Given the description of an element on the screen output the (x, y) to click on. 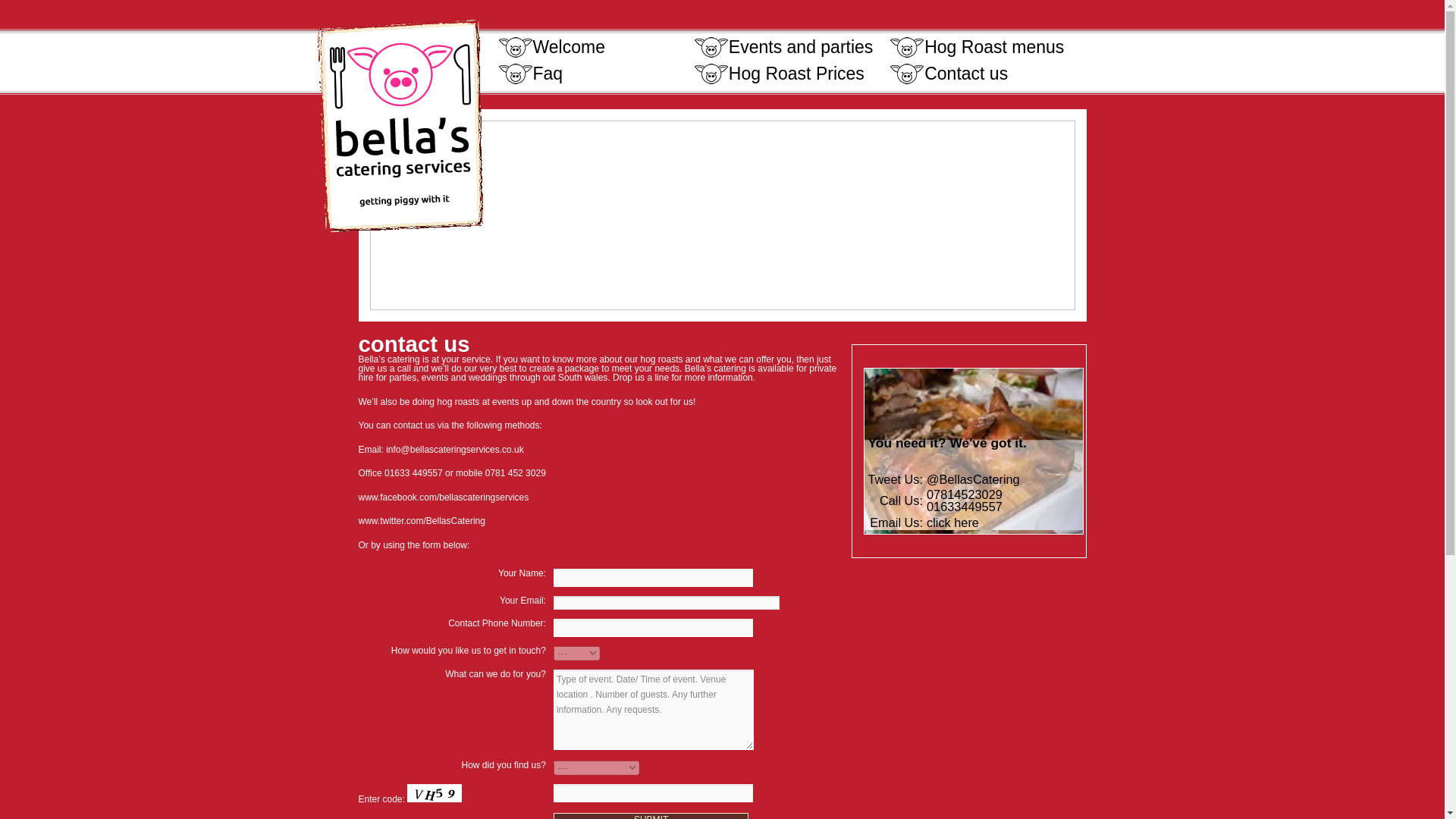
Hog Roast menus (986, 47)
Welcome (596, 47)
SUBMIT (650, 816)
Contact us (986, 73)
Events and parties (791, 47)
SUBMIT (650, 816)
Hog Roast Prices (791, 73)
Click to chat via Twitter (973, 479)
click here (952, 522)
Faq (596, 73)
